Given the description of an element on the screen output the (x, y) to click on. 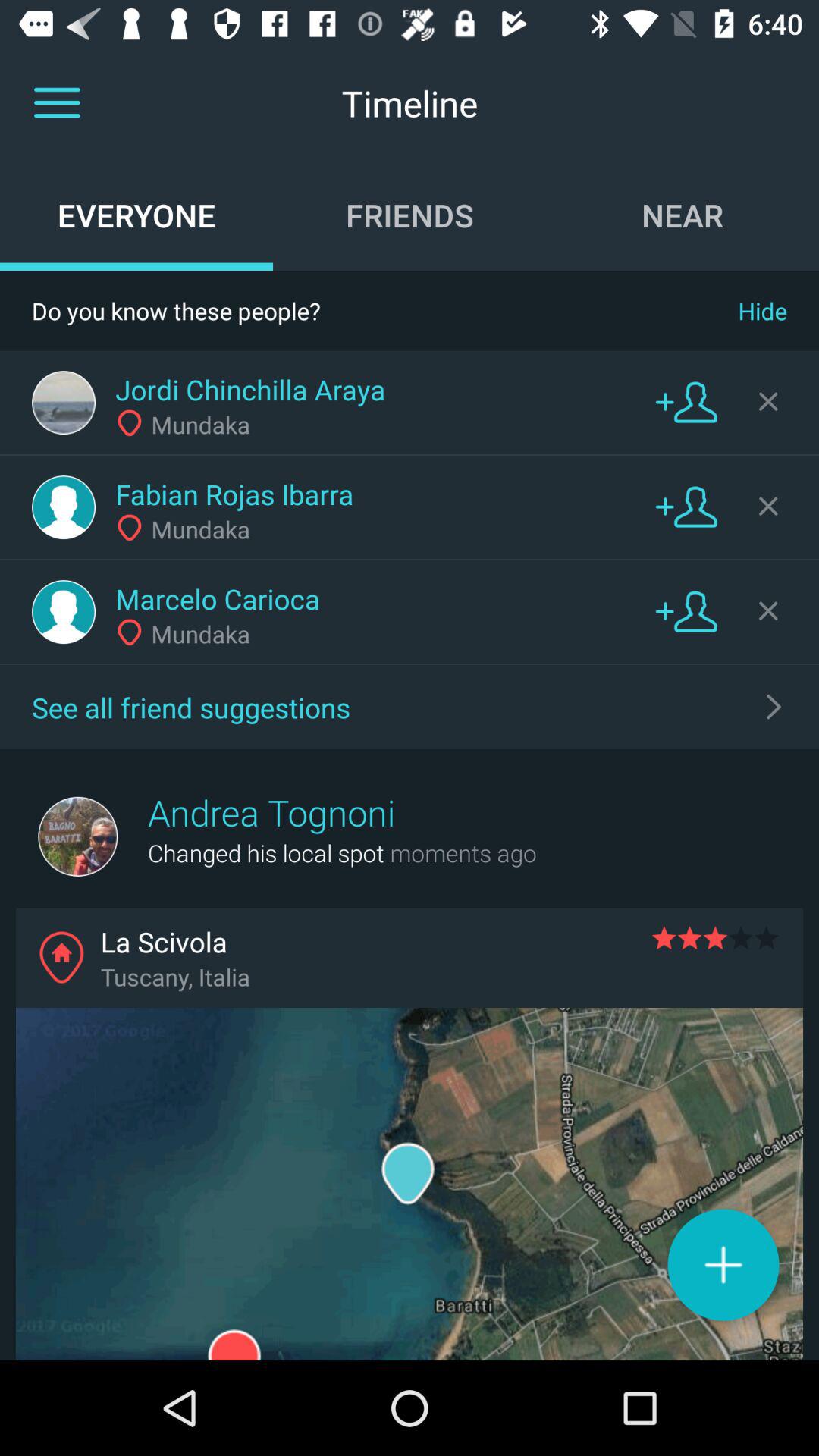
menu bar (57, 103)
